Given the description of an element on the screen output the (x, y) to click on. 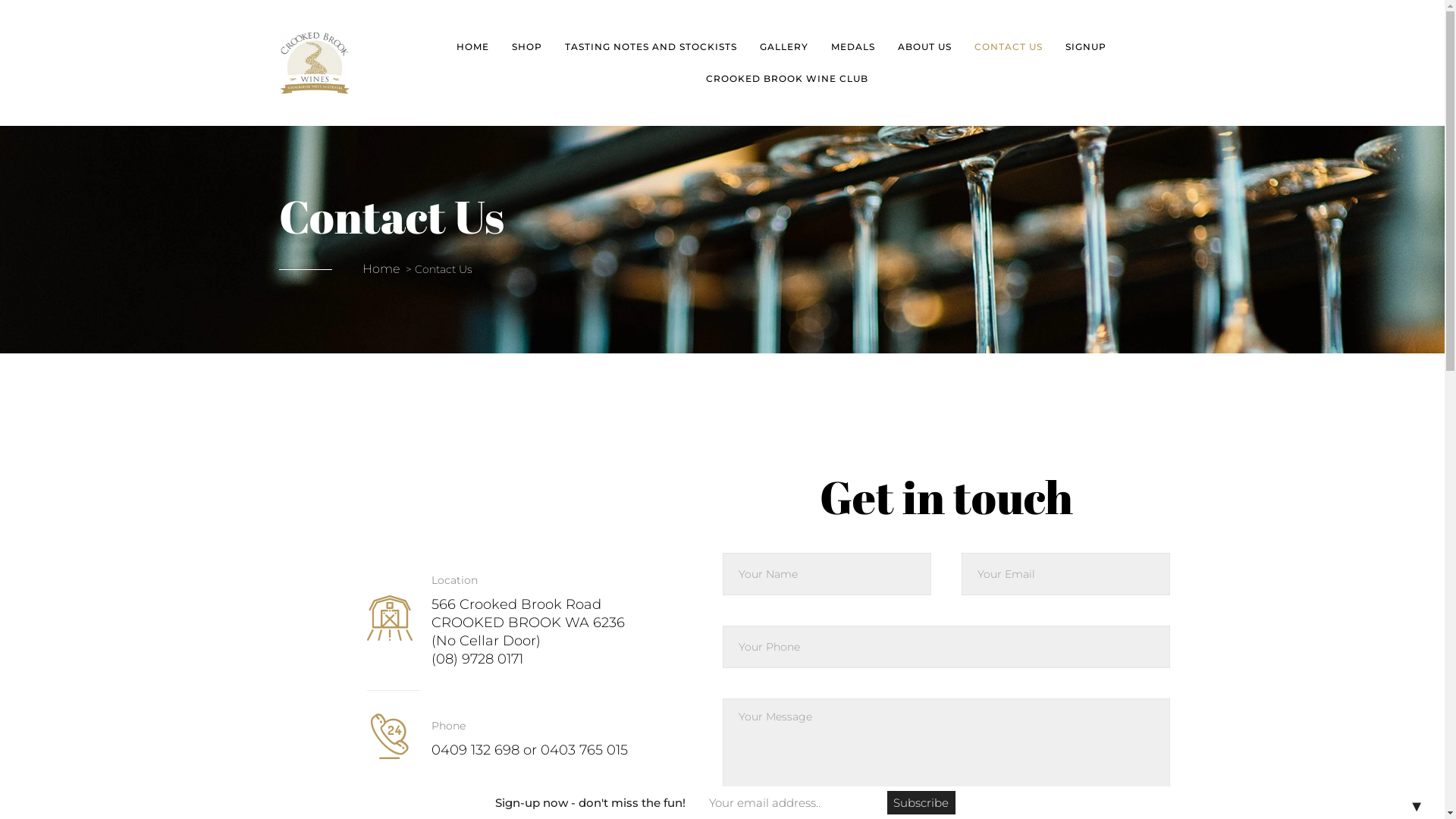
Subscribe Element type: text (921, 802)
TASTING NOTES AND STOCKISTS Element type: text (650, 46)
SIGNUP Element type: text (1085, 46)
GALLERY Element type: text (783, 46)
CROOKED BROOK WINE CLUB Element type: text (787, 78)
Home Element type: text (380, 268)
ABOUT US Element type: text (924, 46)
SHOP Element type: text (526, 46)
HOME Element type: text (472, 46)
CONTACT US Element type: text (1008, 46)
MEDALS Element type: text (853, 46)
